Given the description of an element on the screen output the (x, y) to click on. 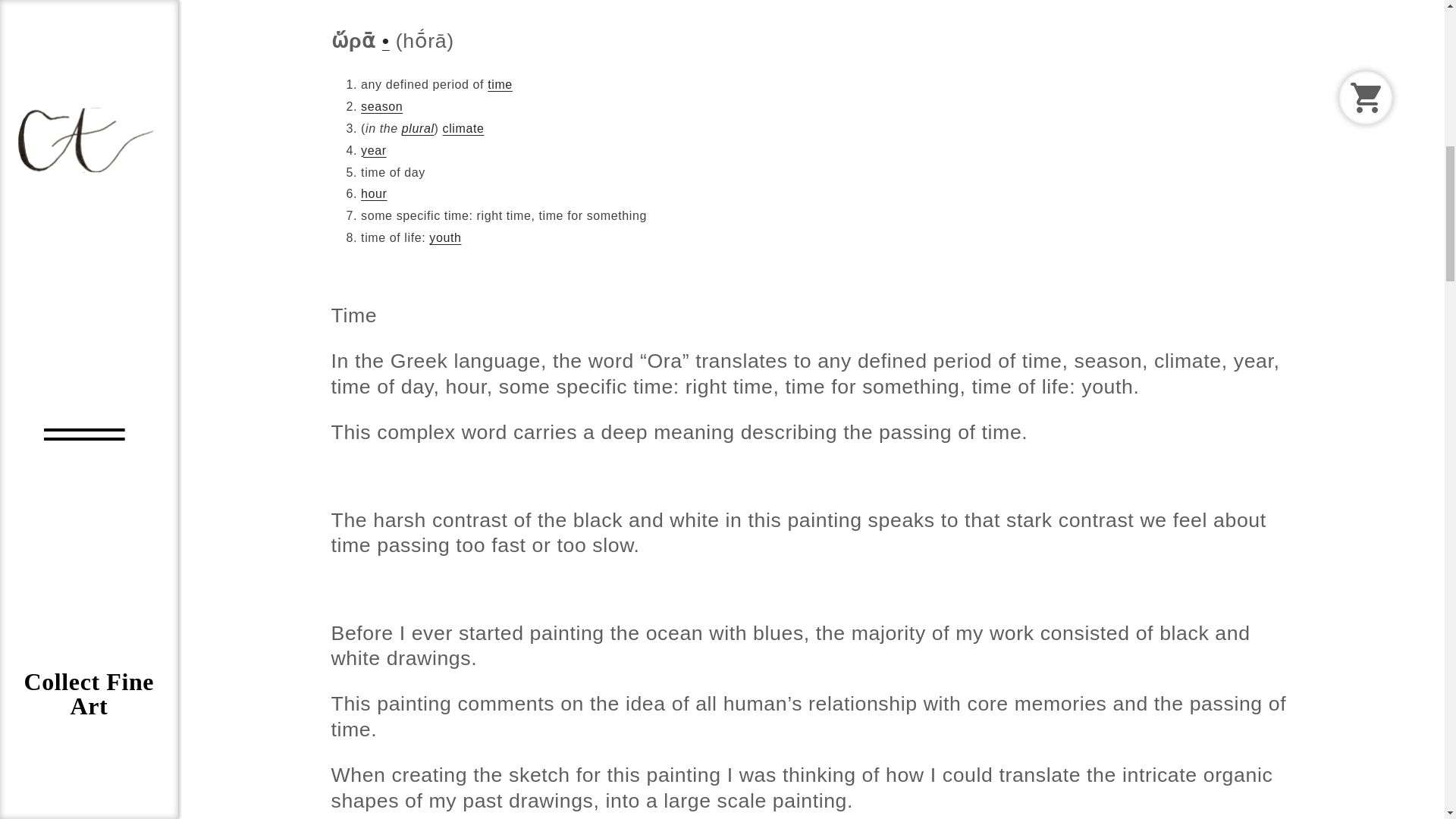
time (499, 83)
youth (445, 237)
year (374, 150)
edit (416, 0)
climate (463, 128)
season (382, 106)
hour (374, 193)
plural (417, 128)
